Given the description of an element on the screen output the (x, y) to click on. 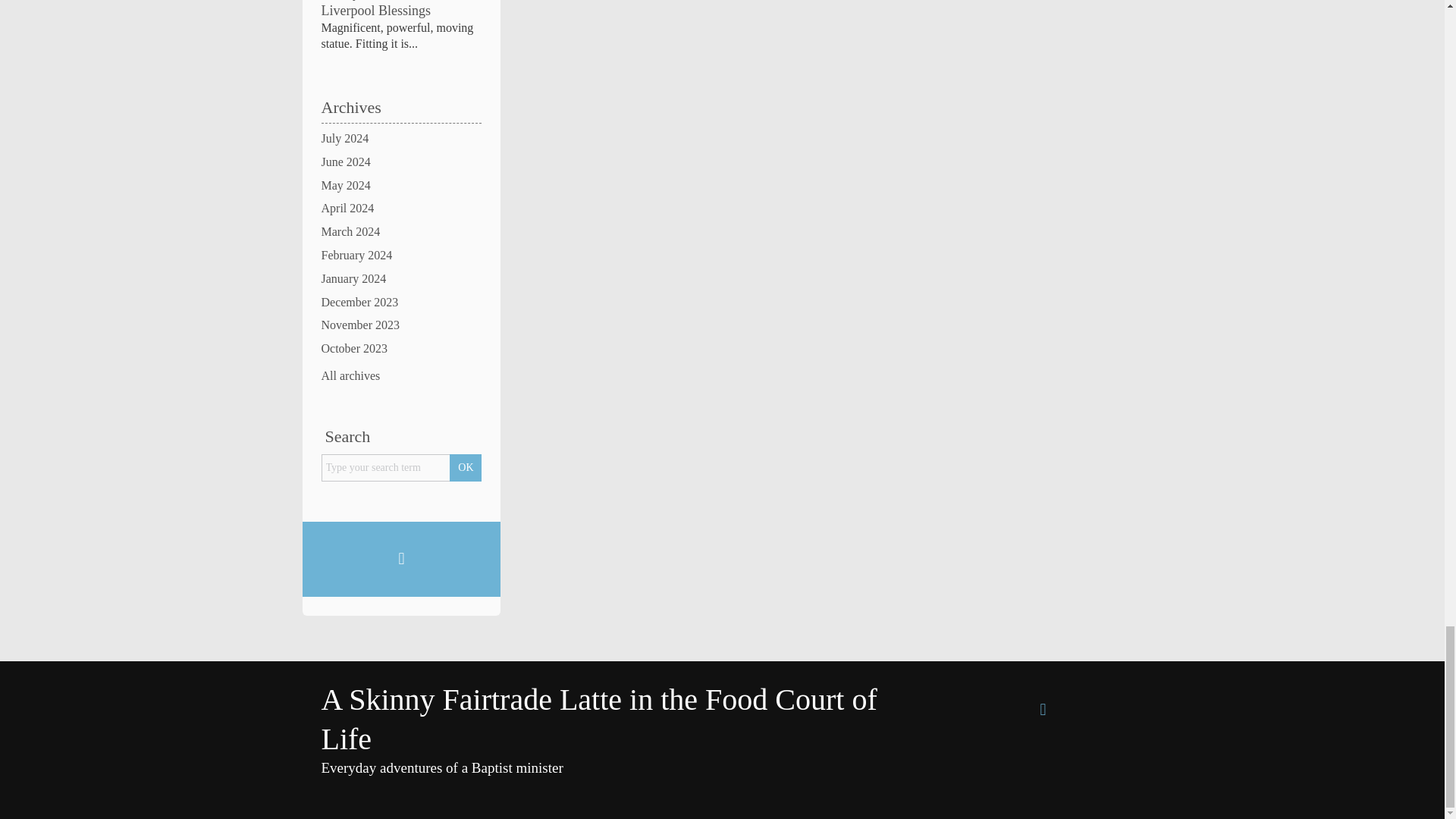
Email (400, 558)
OK (465, 467)
July 2024 (401, 139)
Liverpool Blessings (375, 10)
June 2024 (401, 162)
Email (1043, 709)
May 2024 (401, 186)
